Given the description of an element on the screen output the (x, y) to click on. 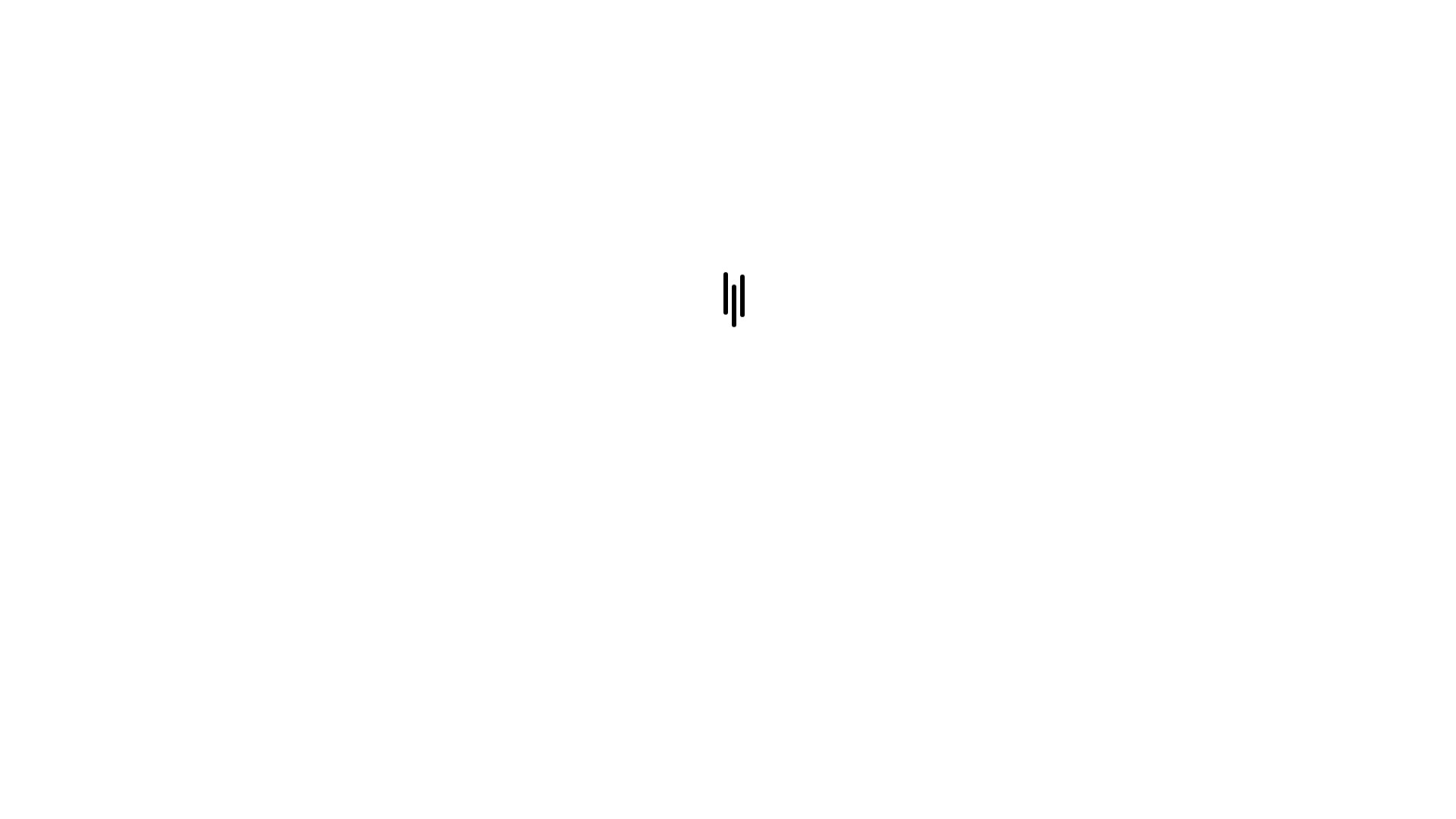
415.621.6545 Element type: text (666, 799)
Log In Element type: text (727, 535)
mehdi@2mcreative.com Element type: text (765, 799)
Lost your password? Element type: text (660, 463)
